Given the description of an element on the screen output the (x, y) to click on. 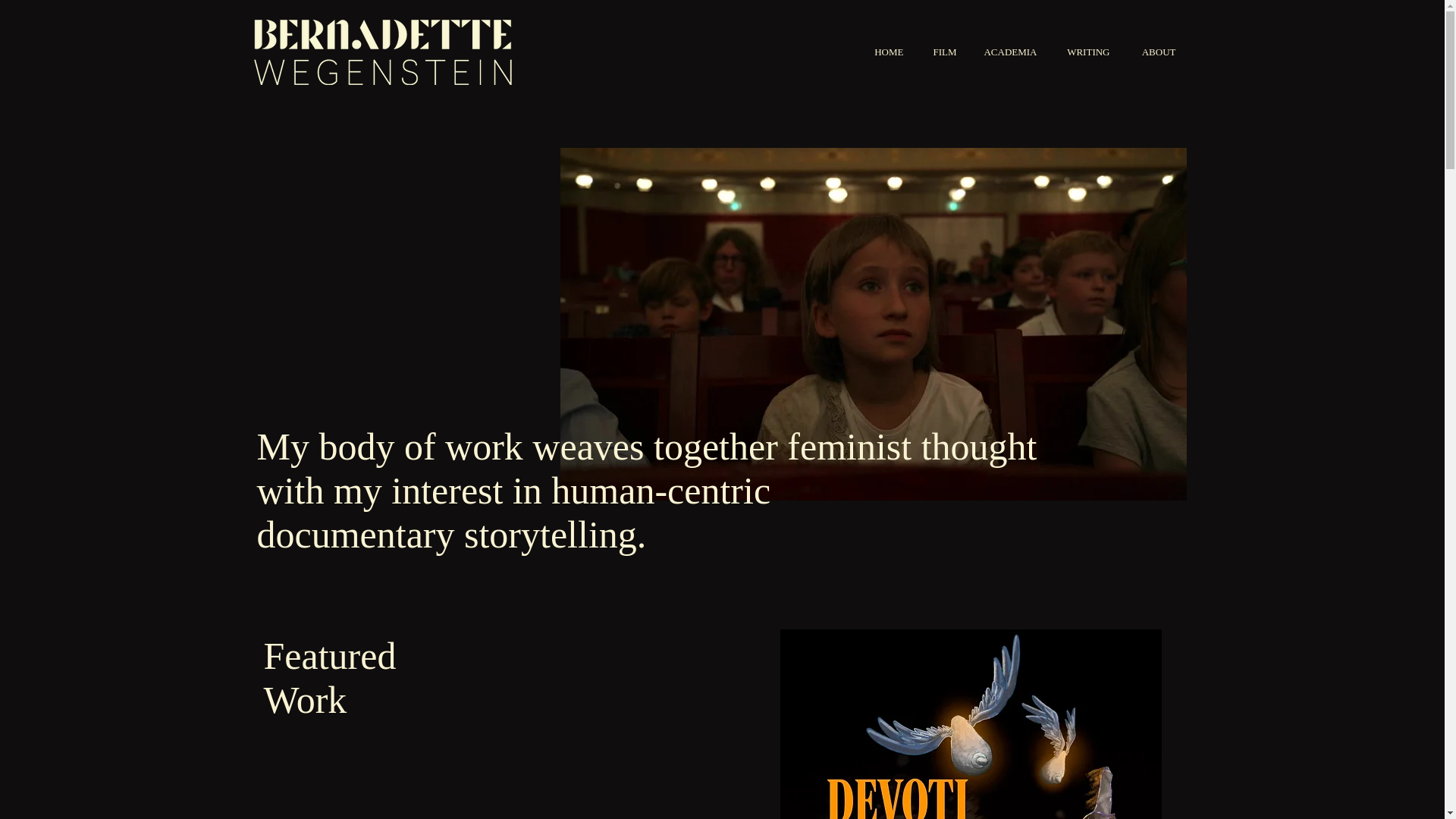
FILM (941, 52)
ACADEMIA (1008, 52)
WRITING (1084, 52)
HOME (882, 52)
POSTER-DEVOTI-A3-300DPI.jpg (969, 724)
ABOUT (1153, 52)
